Given the description of an element on the screen output the (x, y) to click on. 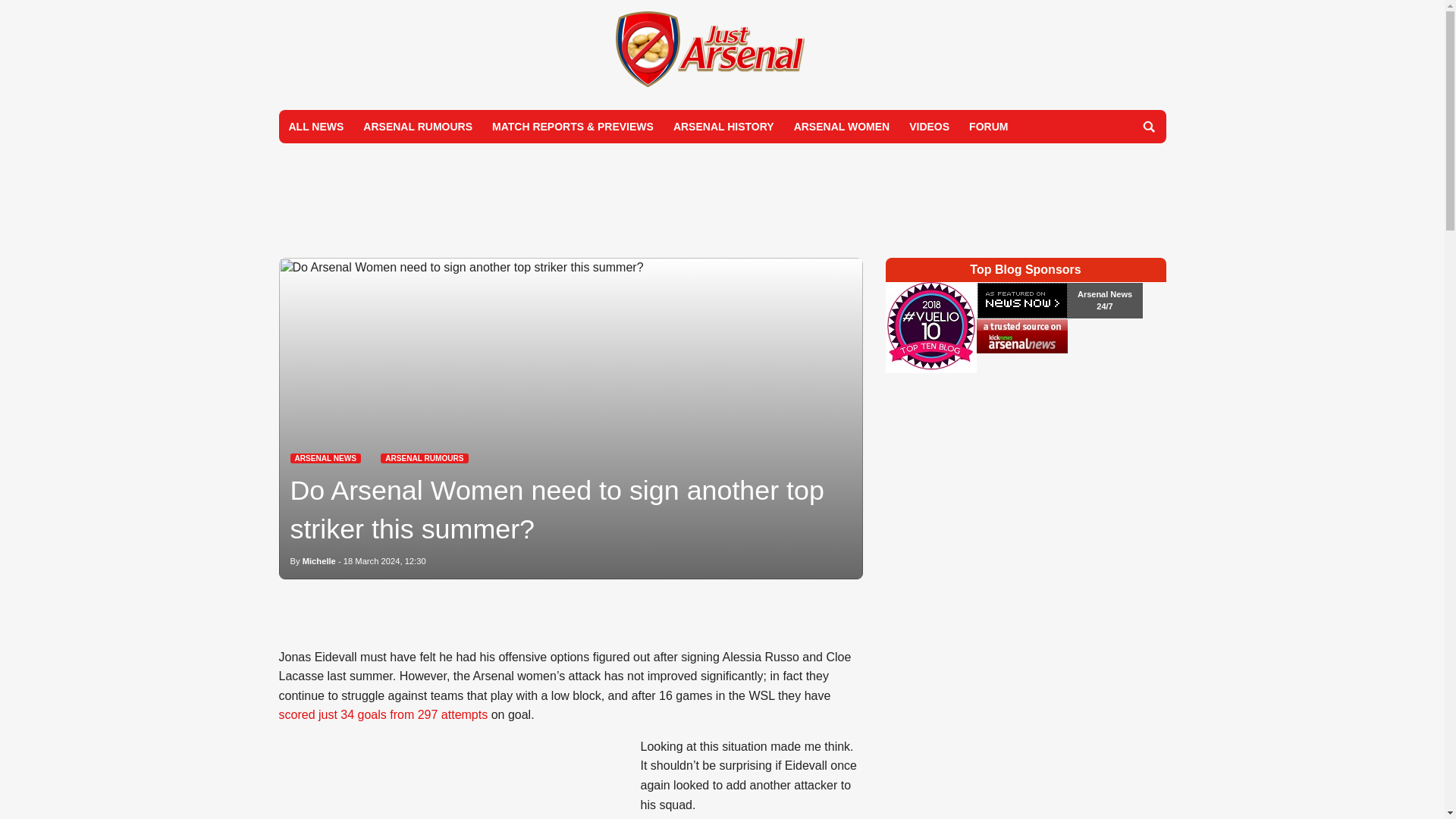
ARSENAL RUMOURS (423, 458)
VIDEOS (929, 126)
Latest Arsenal News News (325, 458)
18 March 2024, 12:30 (384, 560)
Michelle (319, 560)
Search (1147, 126)
Latest Arsenal Rumours News (423, 458)
ARSENAL RUMOURS (417, 126)
FORUM (988, 126)
